Given the description of an element on the screen output the (x, y) to click on. 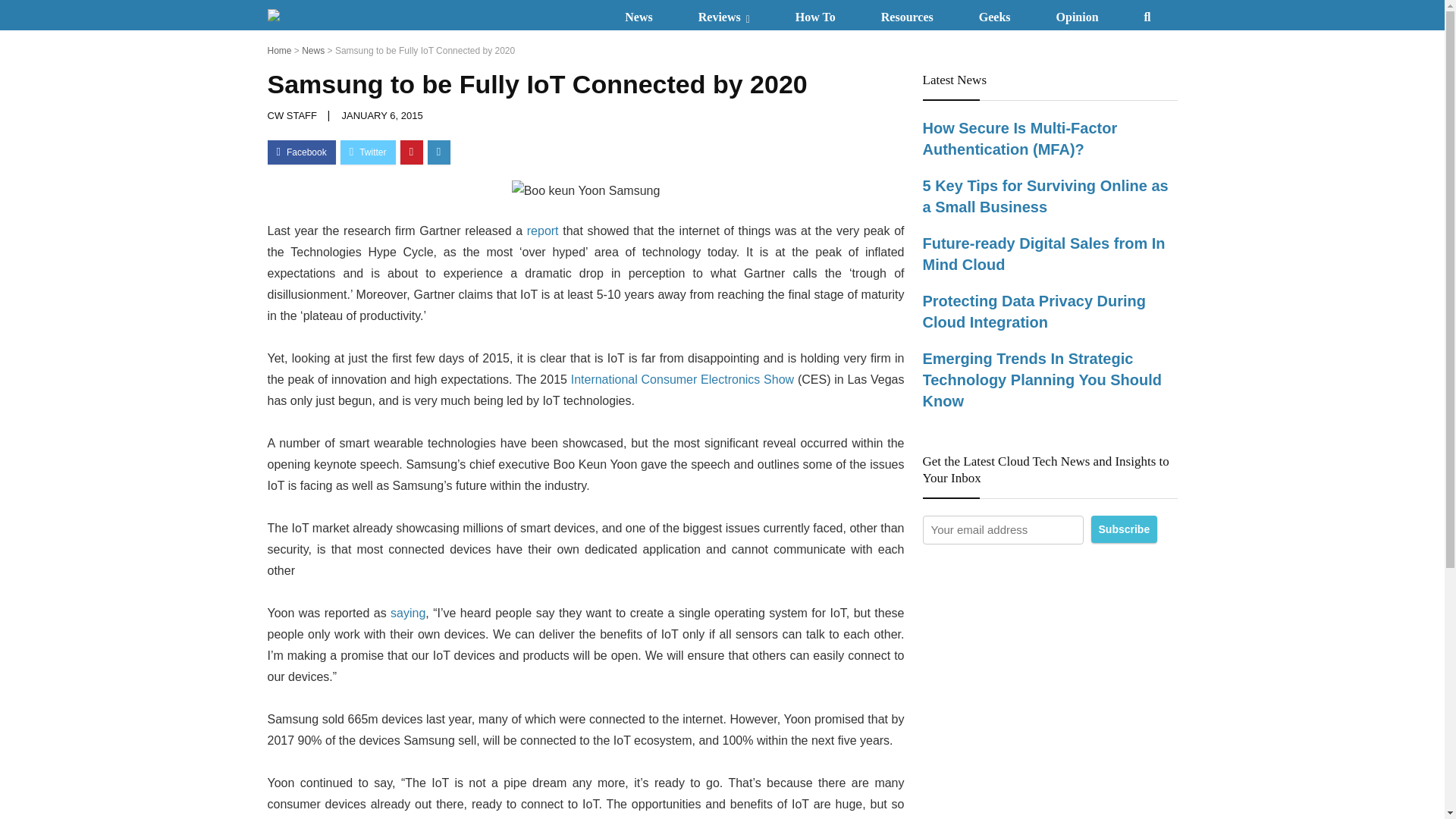
International Consumer Electronics Show (681, 379)
Home (278, 50)
How To (816, 14)
Resources (907, 14)
Future-ready Digital Sales from In Mind Cloud (1042, 253)
Protecting Data Privacy During Cloud Integration (1033, 311)
Opinion (1077, 14)
Subscribe (1123, 528)
report (543, 230)
News (312, 50)
Subscribe (1123, 528)
5 Key Tips for Surviving Online as a Small Business (1044, 196)
CW STAFF (292, 115)
saying (407, 612)
